Given the description of an element on the screen output the (x, y) to click on. 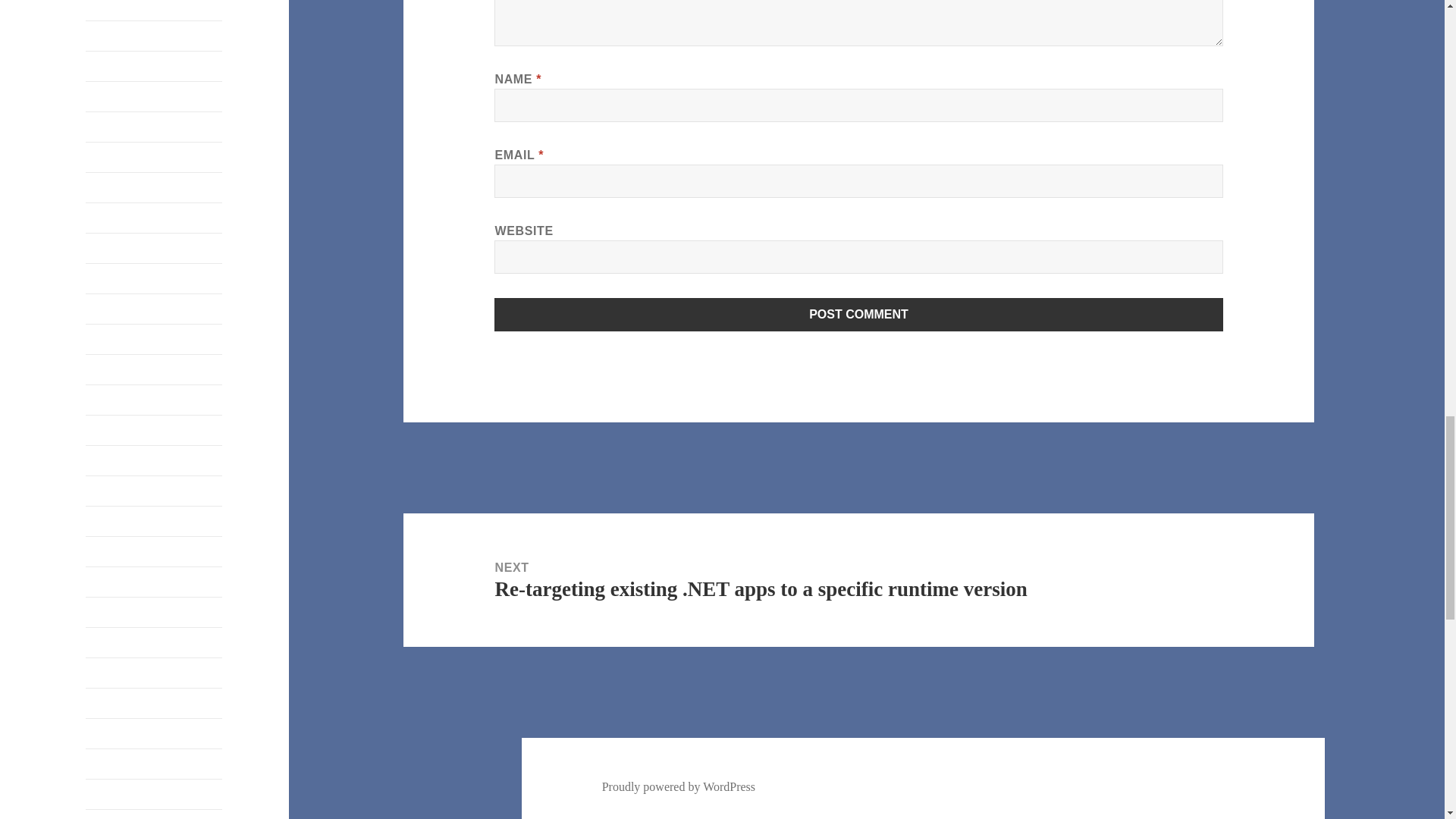
Post Comment (859, 314)
